Given the description of an element on the screen output the (x, y) to click on. 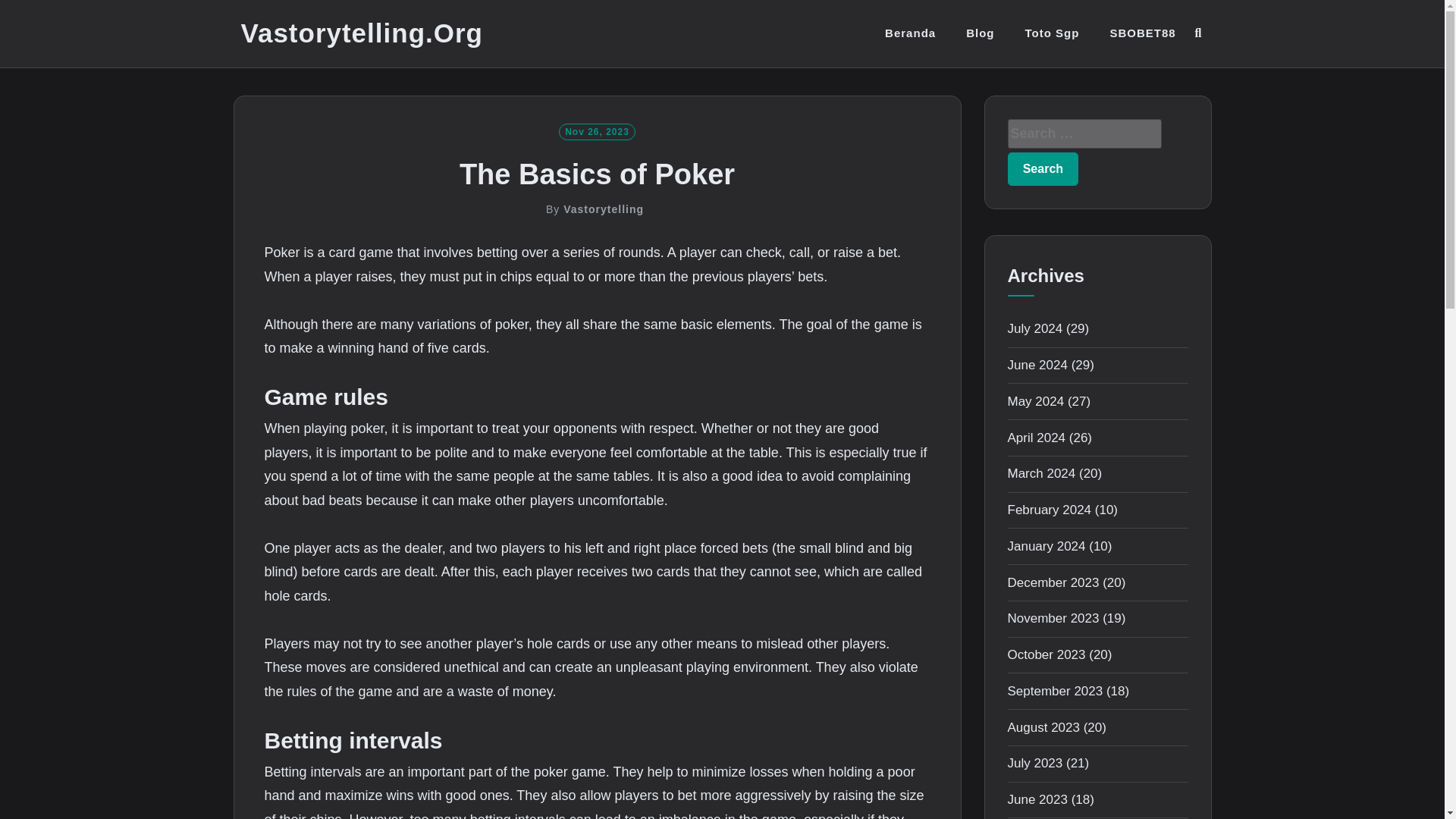
SBOBET88 (1141, 33)
Nov 26, 2023 (596, 130)
June 2023 (1037, 799)
Beranda (910, 33)
March 2024 (1041, 473)
July 2024 (1034, 328)
October 2023 (1045, 654)
May 2024 (1035, 400)
Vastorytelling (603, 209)
July 2023 (1034, 762)
September 2023 (1054, 690)
December 2023 (1053, 582)
Search (1042, 168)
June 2024 (1037, 364)
Search (1042, 168)
